Given the description of an element on the screen output the (x, y) to click on. 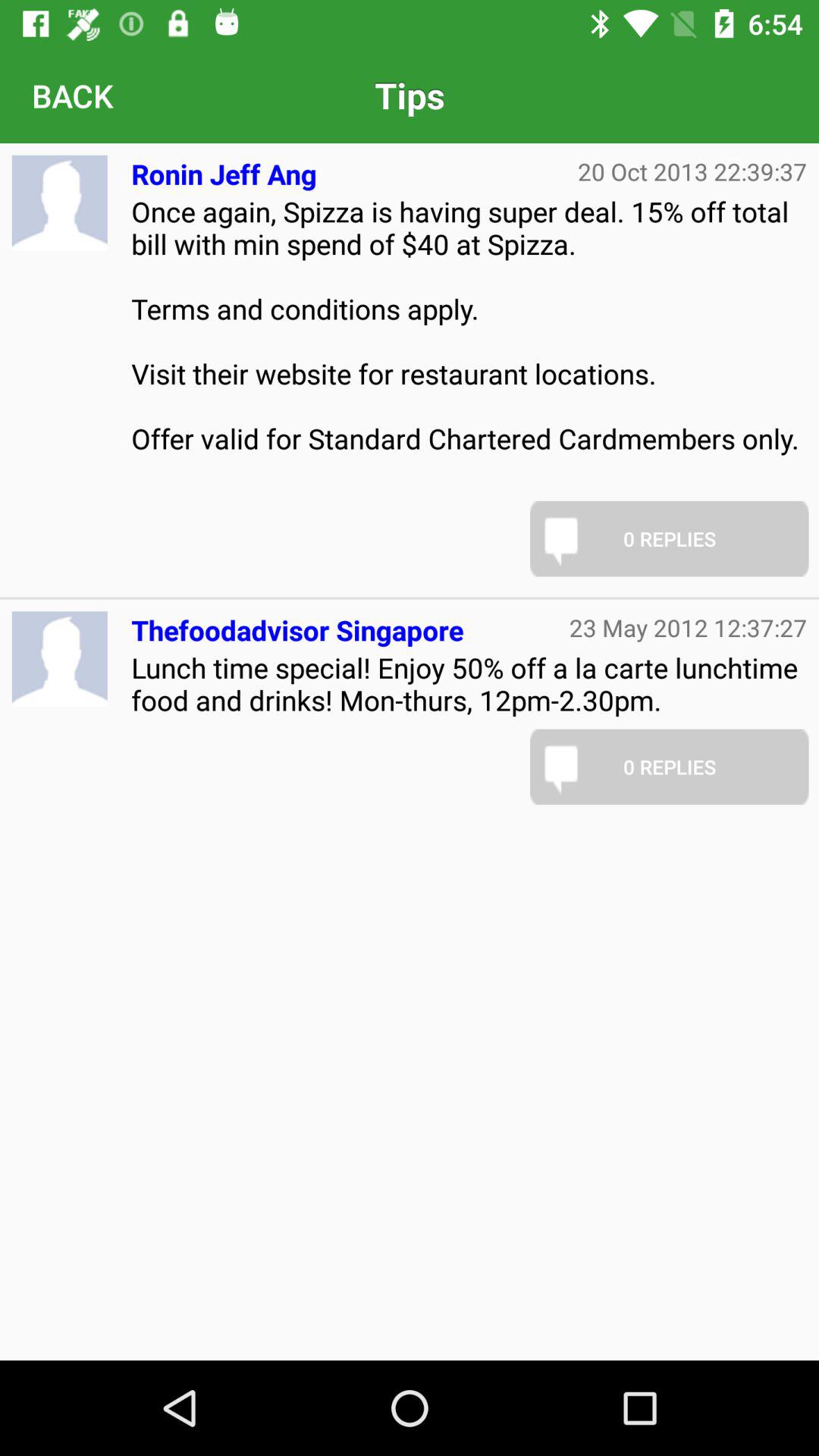
jump to the thefoodadvisor singapore item (297, 623)
